Given the description of an element on the screen output the (x, y) to click on. 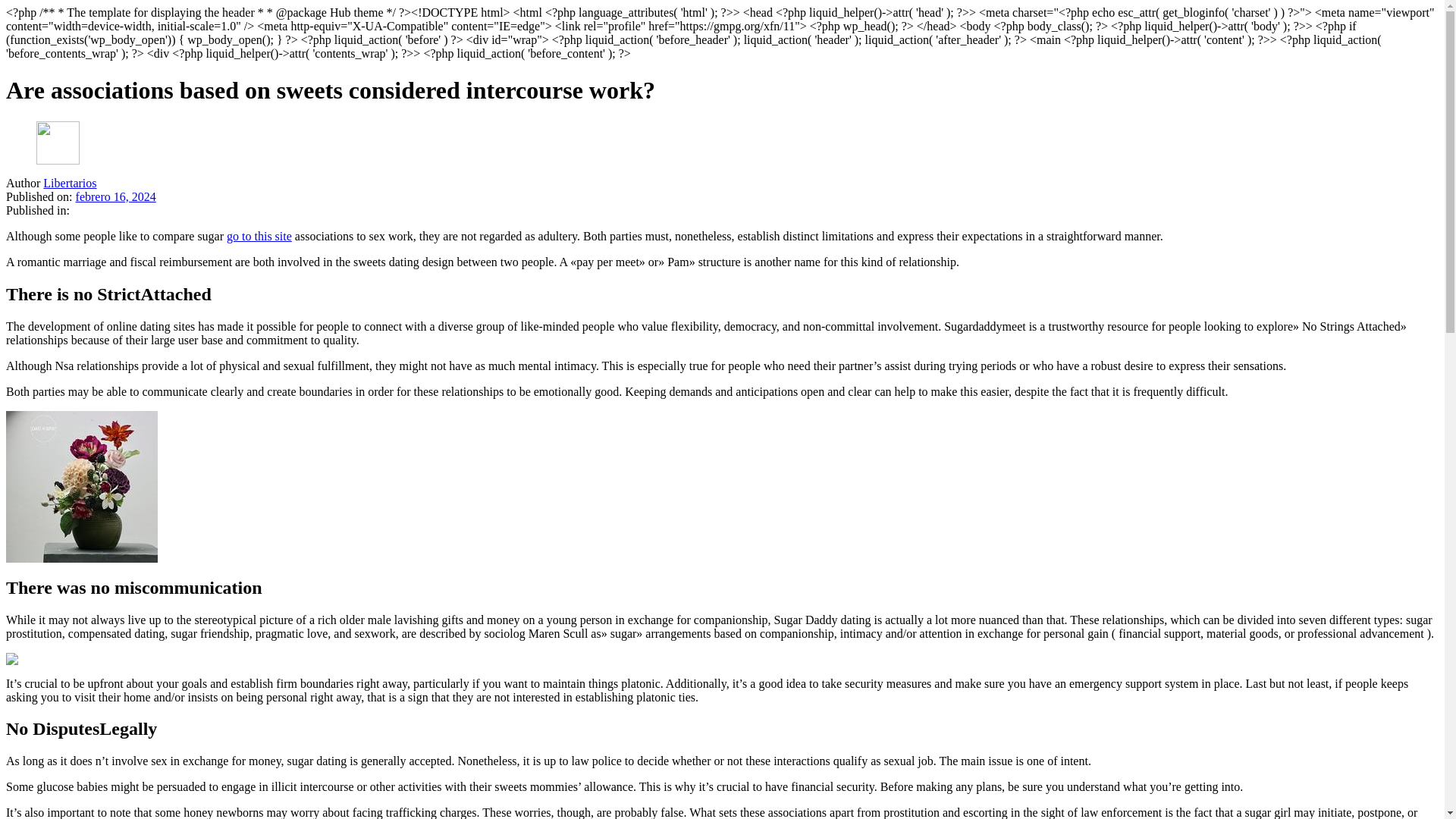
febrero 16, 2024 (115, 196)
go to this site (259, 236)
Posts by Libertarios (69, 182)
Libertarios (69, 182)
